Given the description of an element on the screen output the (x, y) to click on. 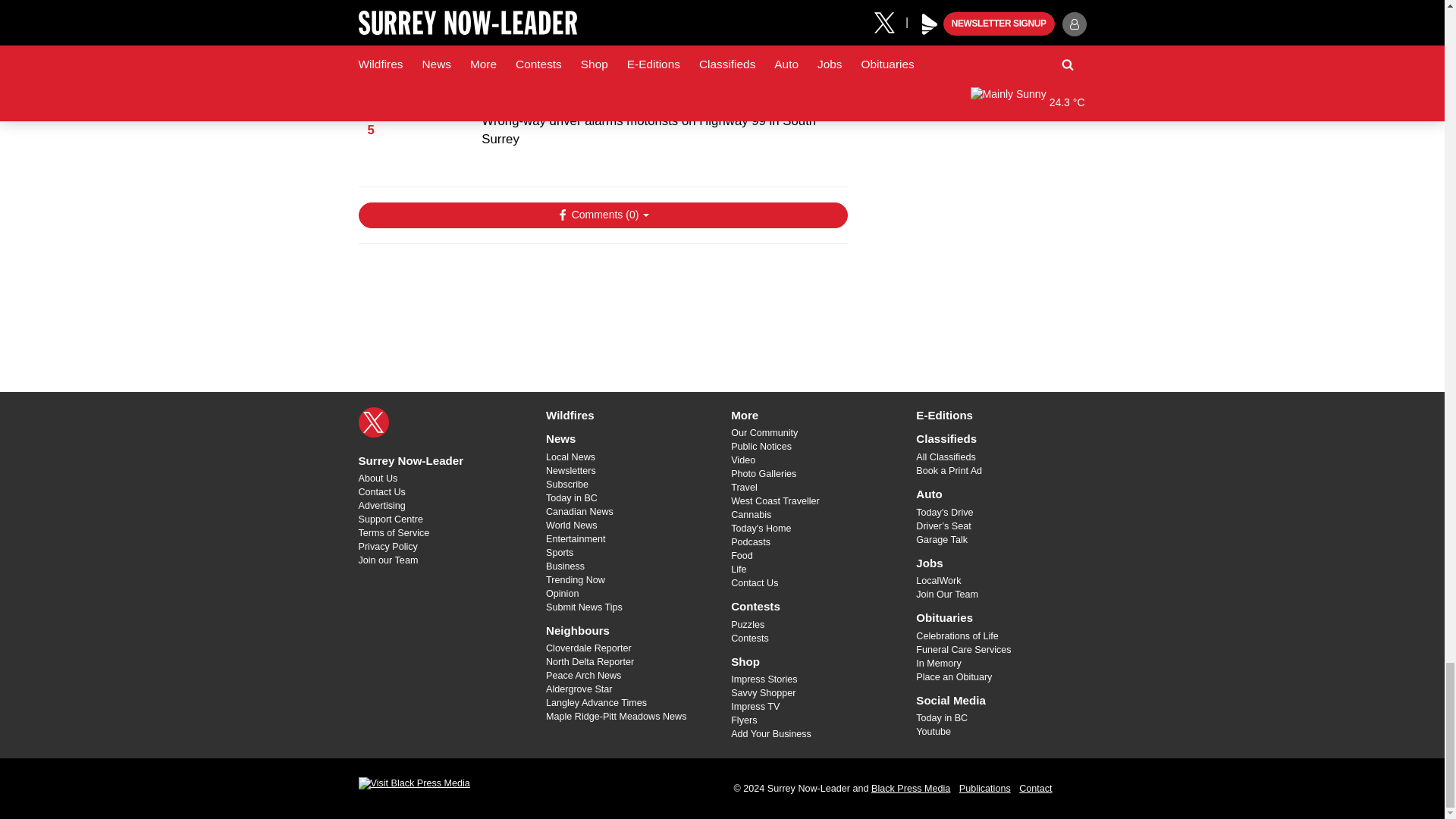
X (373, 422)
Show Comments (602, 215)
